Given the description of an element on the screen output the (x, y) to click on. 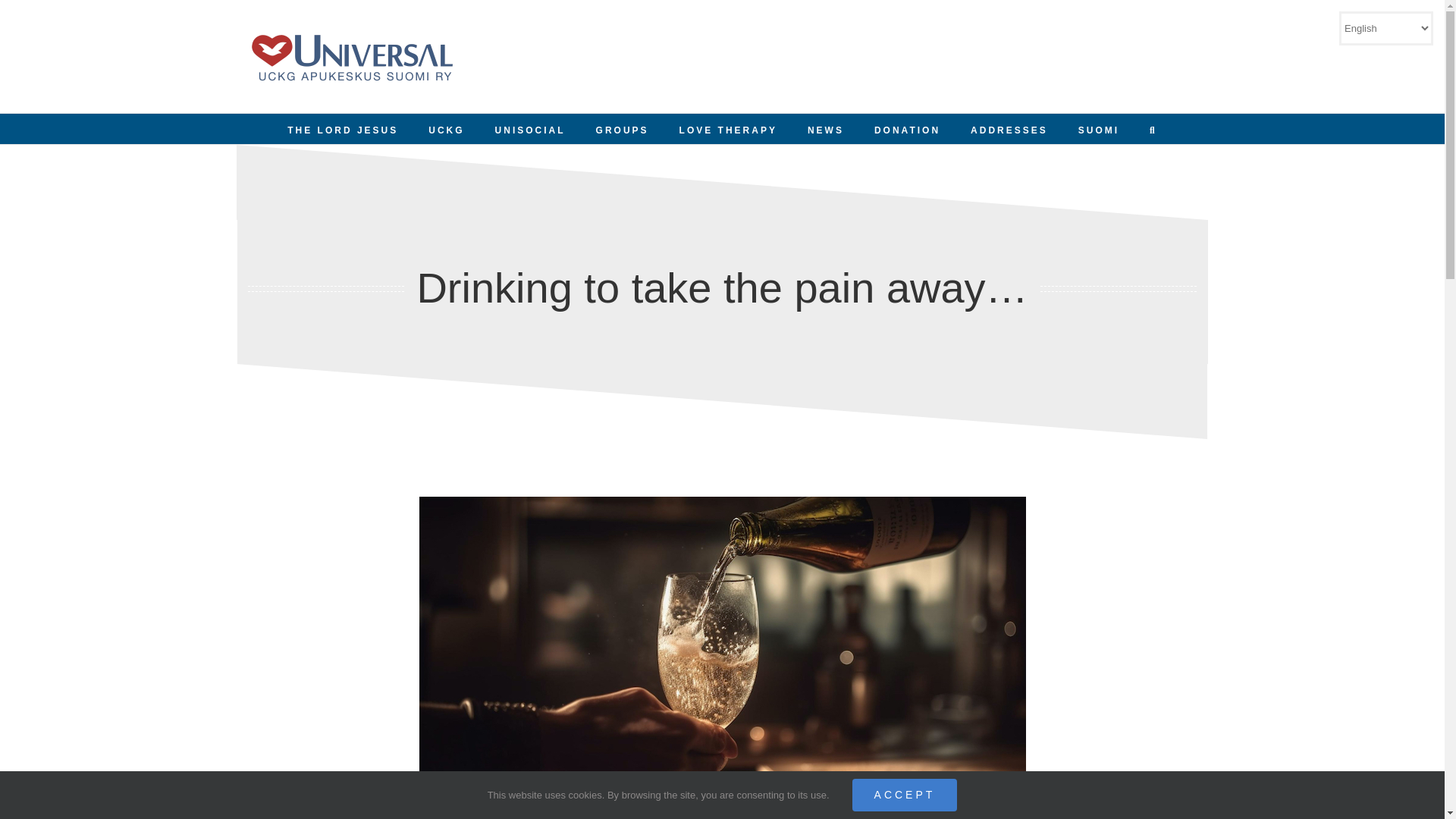
ADDRESSES (1009, 128)
SUOMI (1098, 128)
UNISOCIAL (530, 128)
GROUPS (622, 128)
UCKG (446, 128)
NEWS (826, 128)
DONATION (907, 128)
LOVE THERAPY (728, 128)
THE LORD JESUS (341, 128)
